Given the description of an element on the screen output the (x, y) to click on. 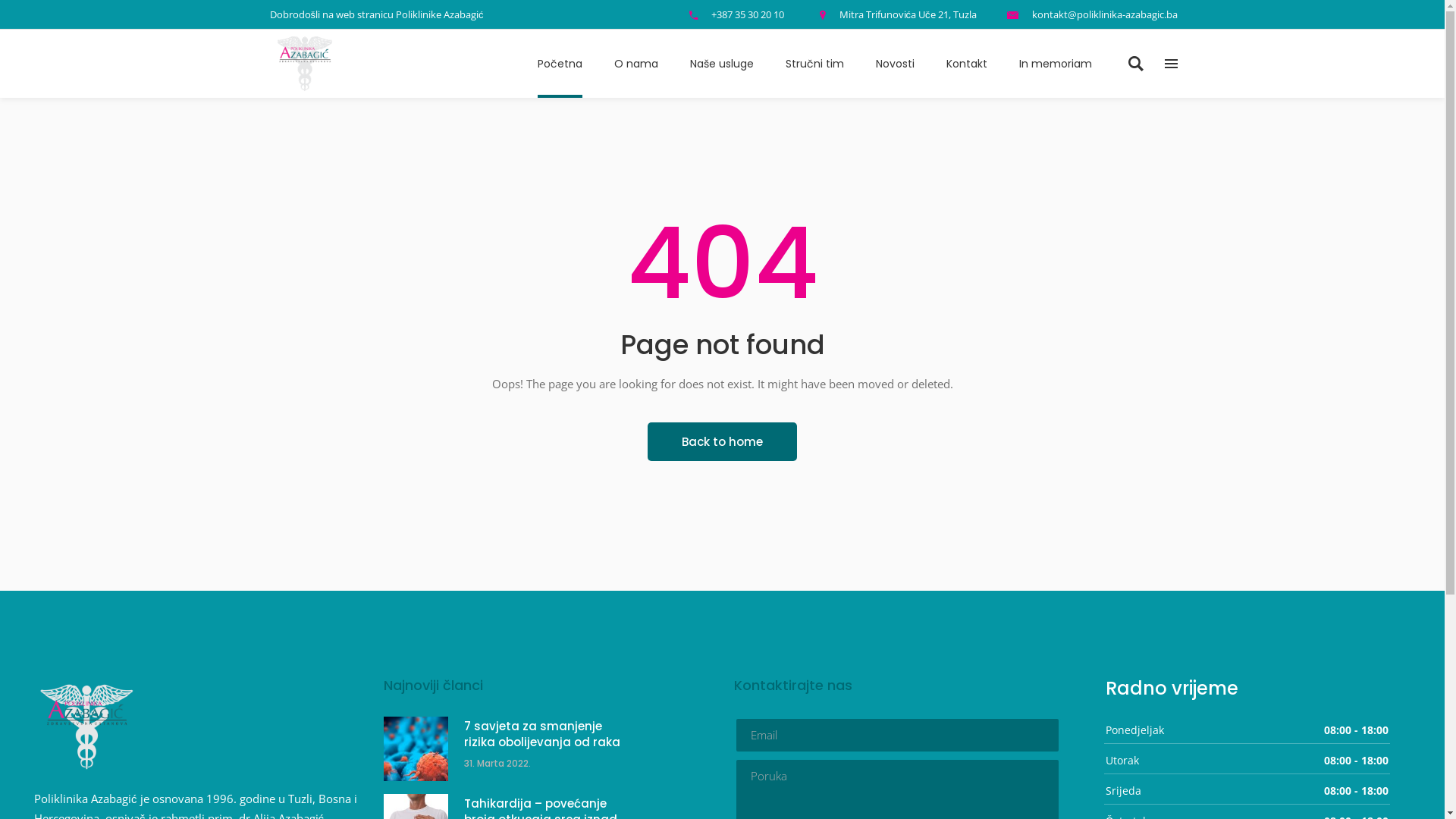
Back to home Element type: text (722, 441)
7 savjeta za smanjenje rizika obolijevanja od raka Element type: text (542, 734)
31. Marta 2022. Element type: text (497, 762)
O nama Element type: text (635, 63)
kontakt@poliklinika-azabagic.ba Element type: text (1103, 14)
Kontakt Element type: text (965, 63)
7 savjeta za smanjenje rizika obolijevanja od raka Element type: hover (415, 748)
In memoriam Element type: text (1054, 63)
+387 35 30 20 10 Element type: text (747, 14)
Novosti Element type: text (894, 63)
